Given the description of an element on the screen output the (x, y) to click on. 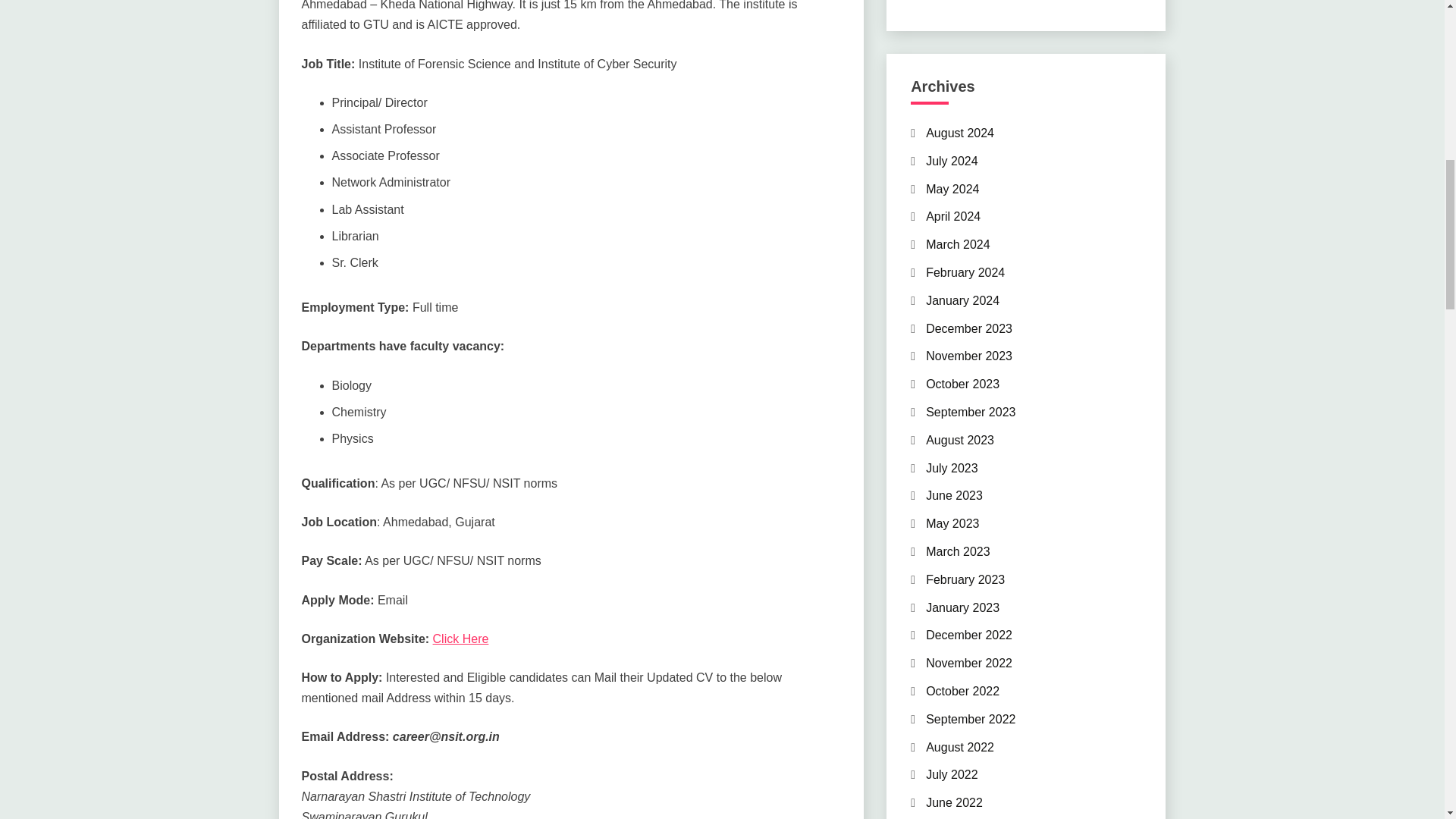
Click Here (460, 638)
